Given the description of an element on the screen output the (x, y) to click on. 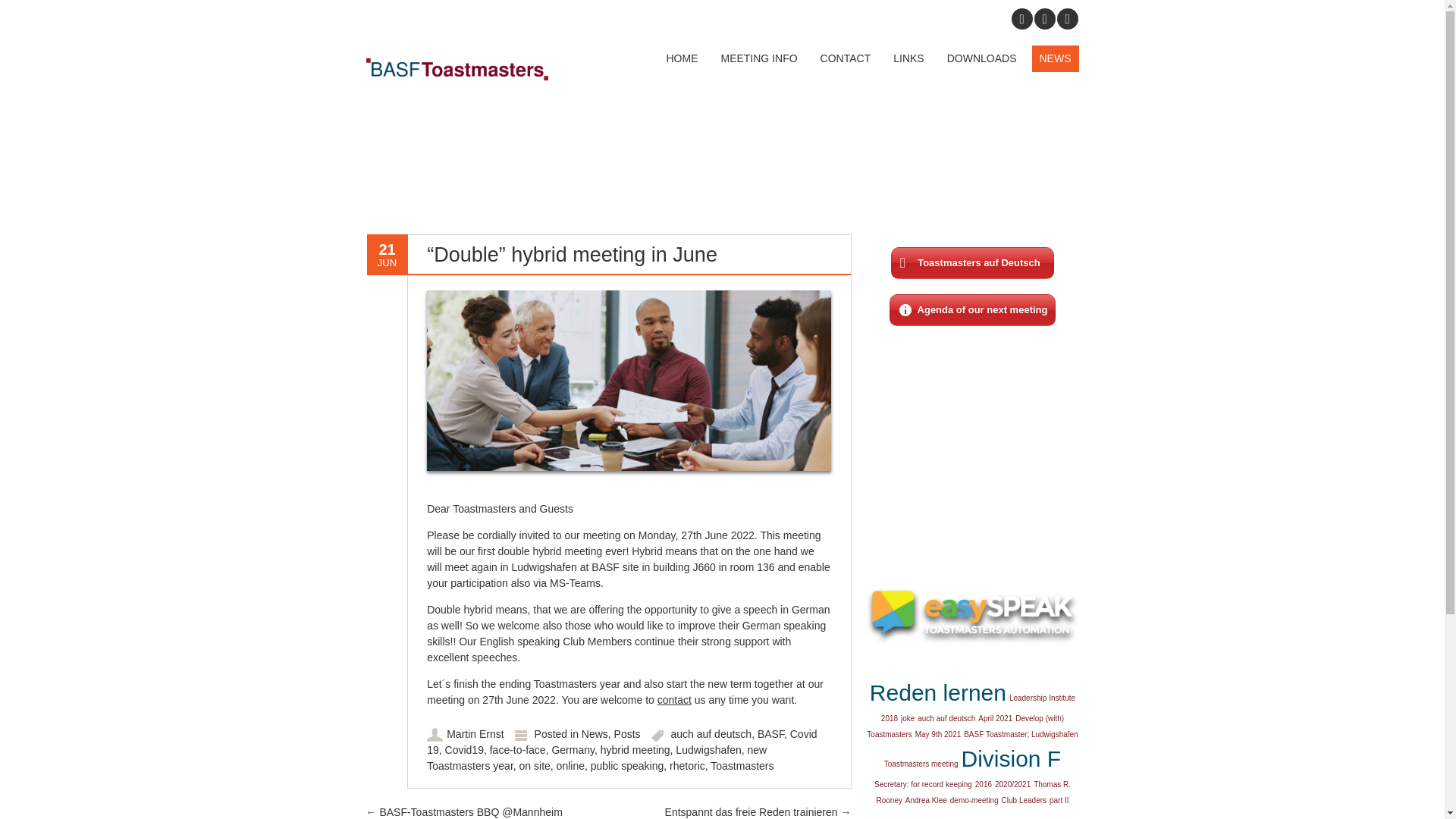
auch auf deutsch (711, 734)
Germany (572, 749)
2 topics (937, 692)
NEWS (1054, 58)
1 topic (937, 734)
  Toastmasters auf Deutsch   (972, 263)
1 topic (994, 718)
auch auf deutsch (946, 718)
LINKS (908, 58)
contact (674, 699)
1 topic (907, 718)
1 topic (920, 764)
Leadership Institute (1042, 697)
News (594, 734)
Agenda of our next meeting (973, 309)
